Given the description of an element on the screen output the (x, y) to click on. 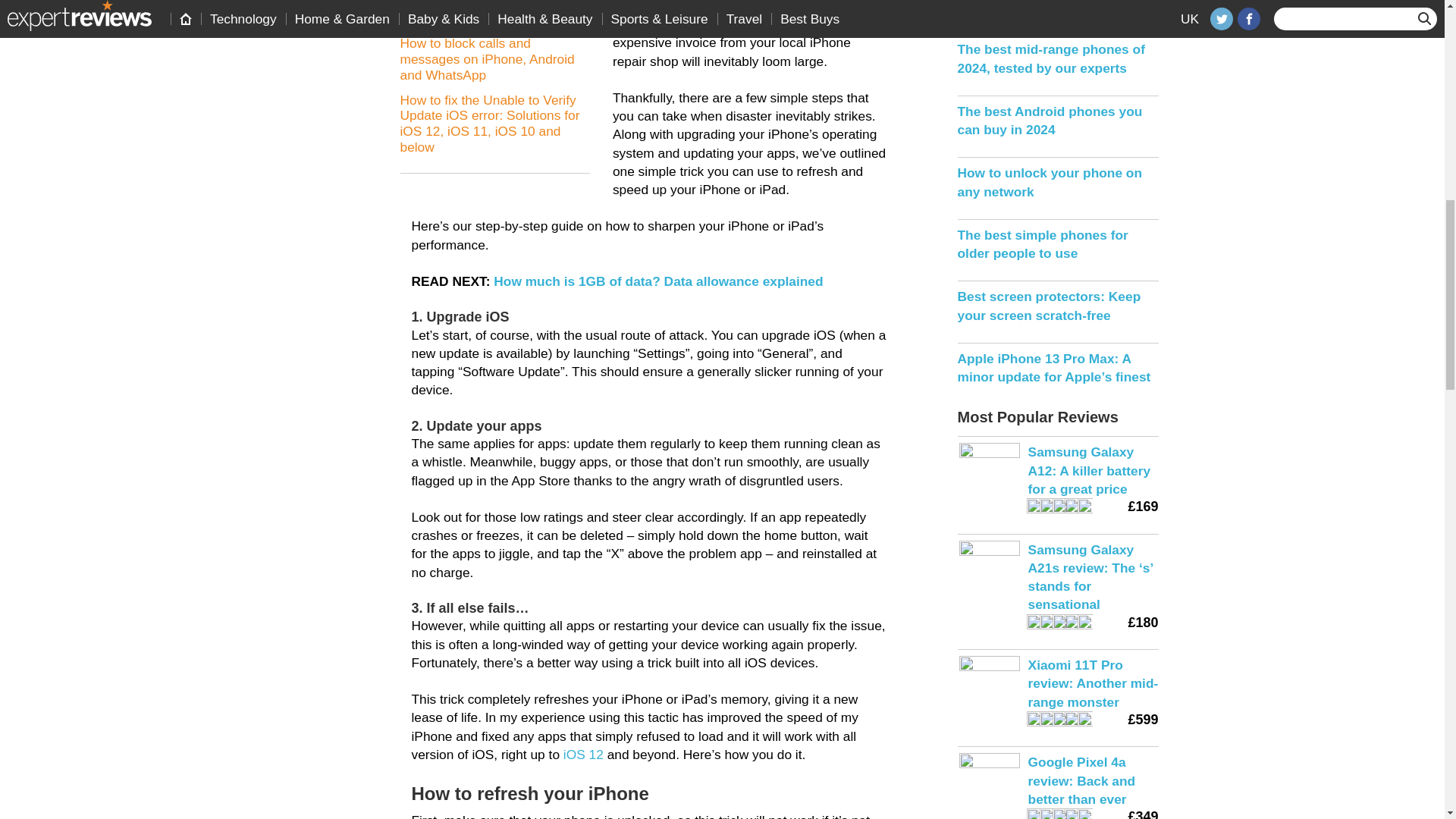
iOS 12 (583, 754)
ios 12 review (583, 754)
How much is 1GB of data? Data allowance explained (657, 281)
how much is 1gb of data (657, 281)
